Given the description of an element on the screen output the (x, y) to click on. 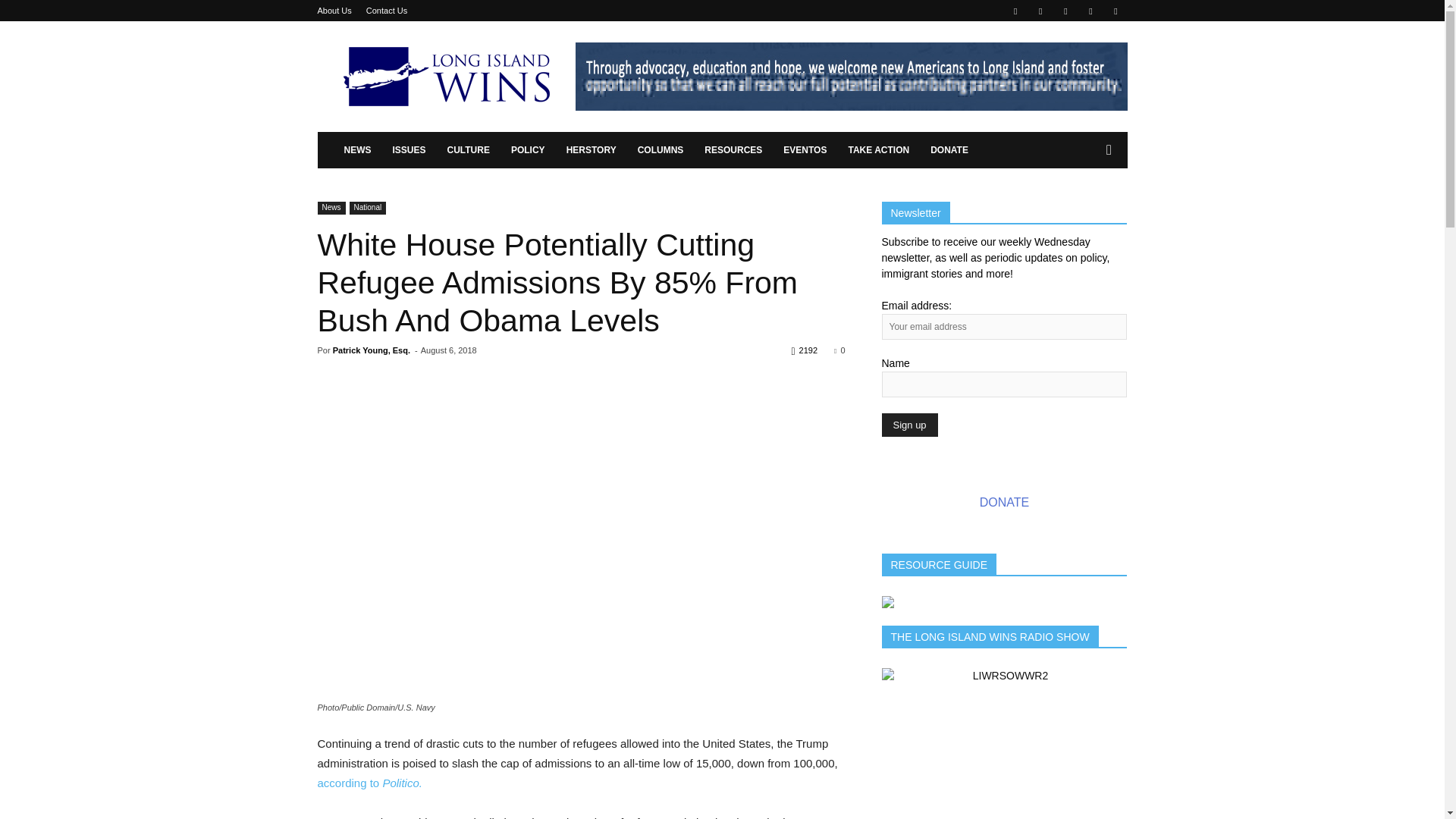
Soundcloud (1065, 10)
Instagram (1040, 10)
Twitter (1090, 10)
Facebook (1015, 10)
Sign up (908, 424)
Youtube (1114, 10)
